Given the description of an element on the screen output the (x, y) to click on. 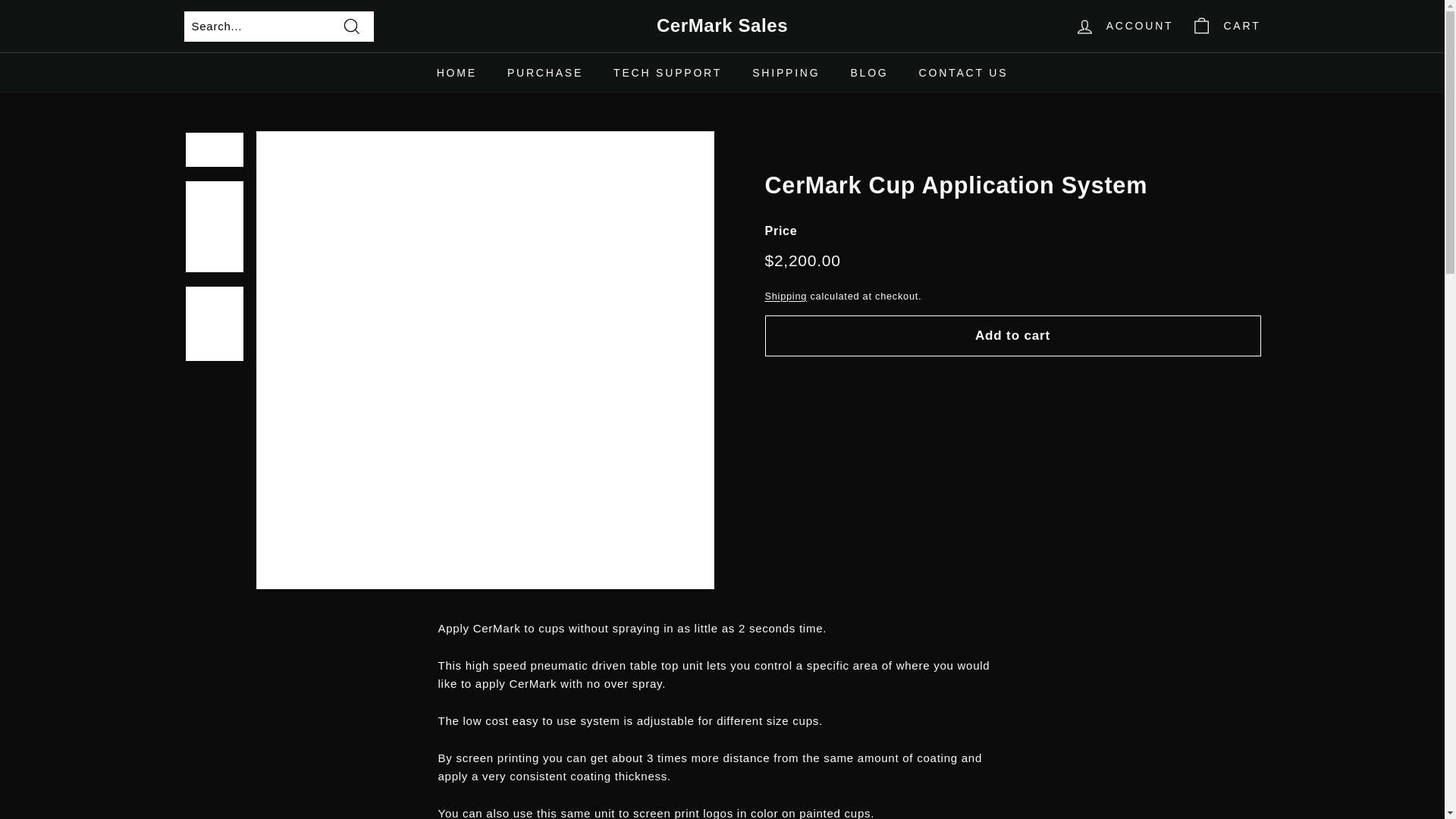
Shipping (785, 296)
HOME (457, 72)
ACCOUNT (1123, 26)
SHIPPING (785, 72)
BLOG (868, 72)
CONTACT US (963, 72)
CerMark Sales (721, 25)
PURCHASE (545, 72)
Add to cart (1012, 335)
TECH SUPPORT (667, 72)
